Given the description of an element on the screen output the (x, y) to click on. 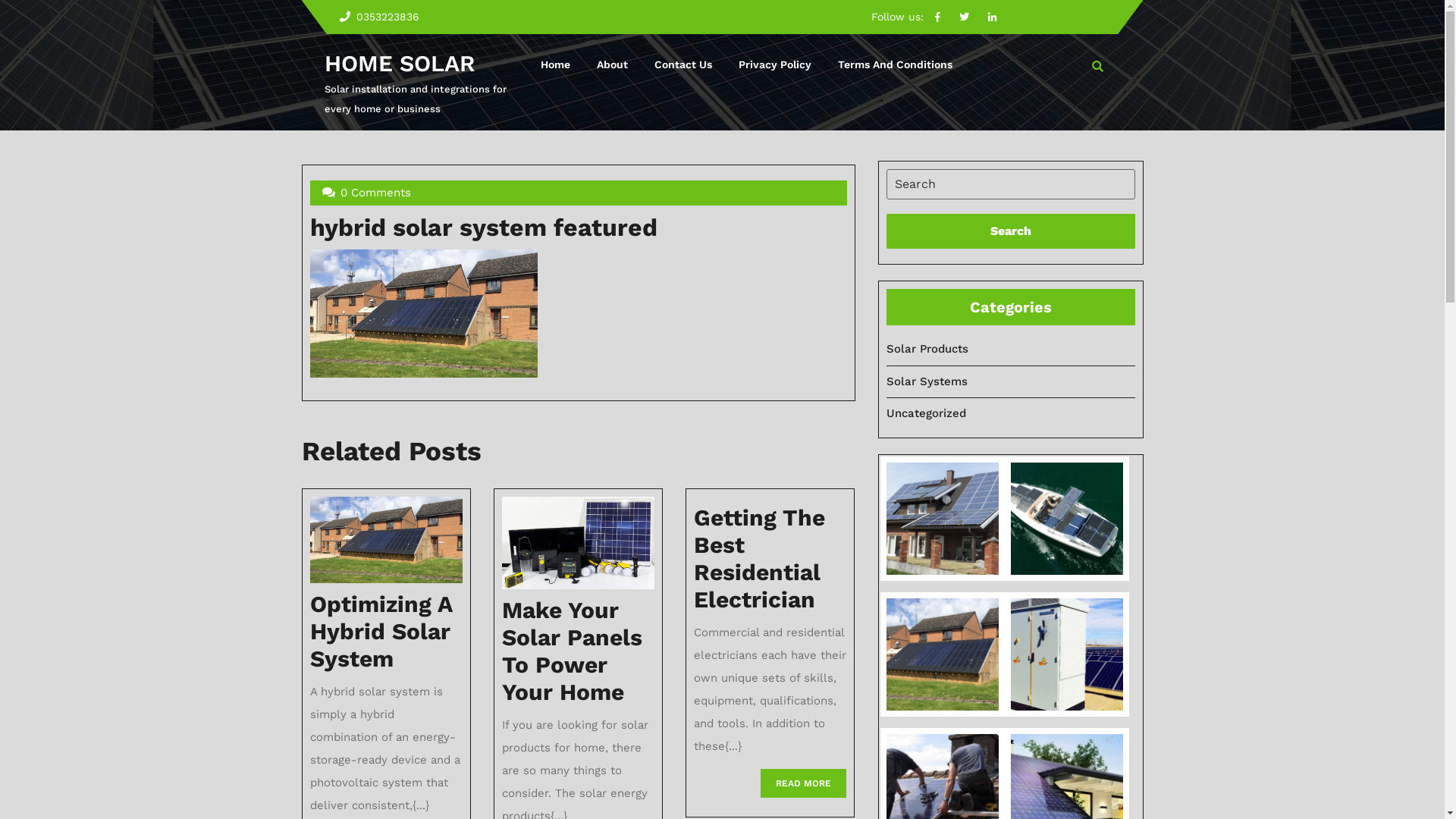
About Element type: text (612, 64)
Solar Systems Element type: text (925, 381)
HOME SOLAR Element type: text (399, 63)
Linkedin Element type: text (992, 16)
Search Element type: text (1009, 230)
Home Element type: text (555, 64)
Uncategorized Element type: text (925, 413)
Terms And Conditions Element type: text (894, 64)
Facebook Element type: text (937, 16)
Contact Us Element type: text (683, 64)
Solar Products Element type: text (926, 348)
Privacy Policy Element type: text (774, 64)
READ MORE
READ MORE Element type: text (803, 782)
0353223836
0353223836 Element type: text (369, 16)
Twitter Element type: text (963, 16)
